Given the description of an element on the screen output the (x, y) to click on. 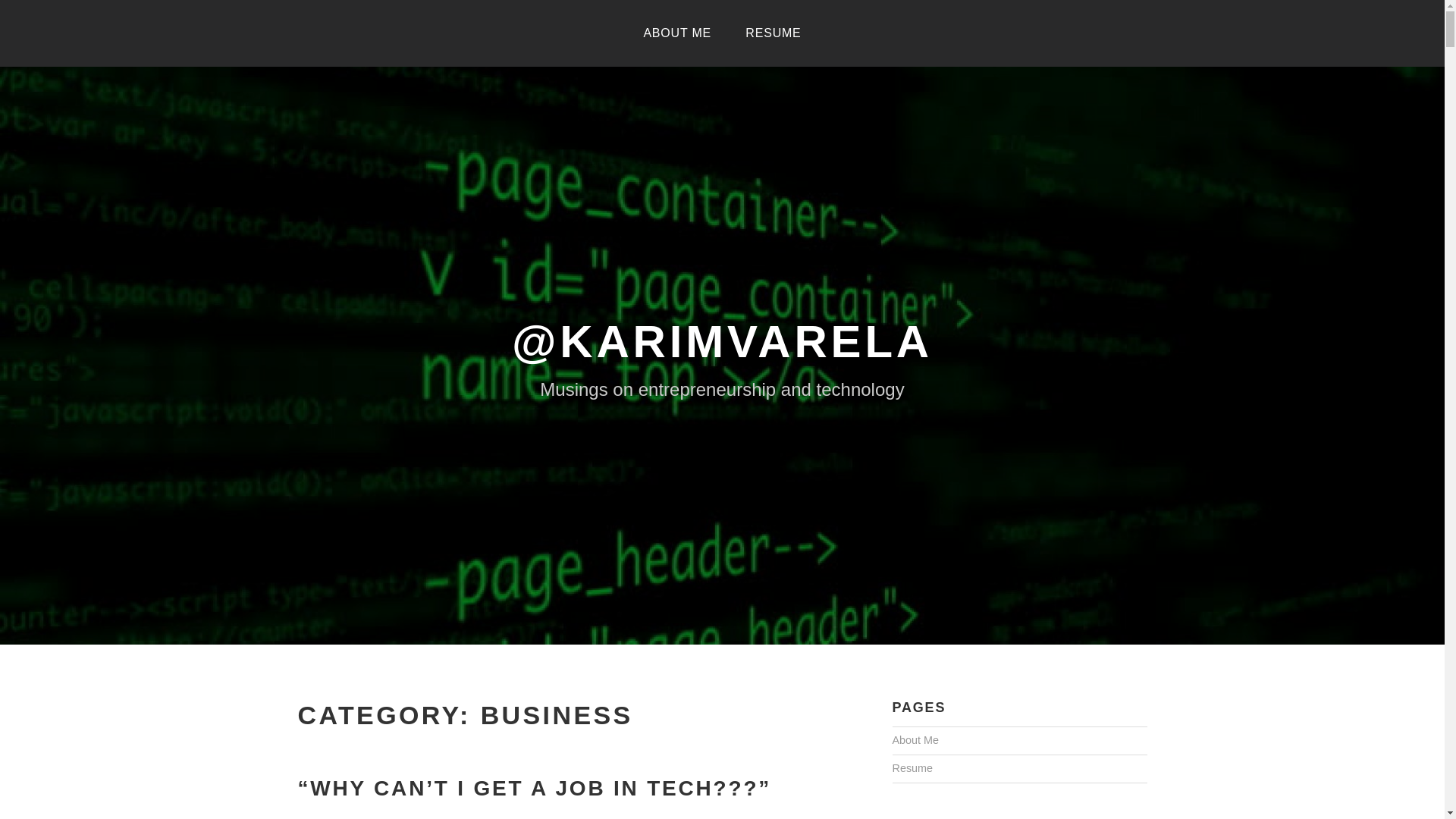
RESUME (772, 33)
ABOUT ME (676, 33)
